Given the description of an element on the screen output the (x, y) to click on. 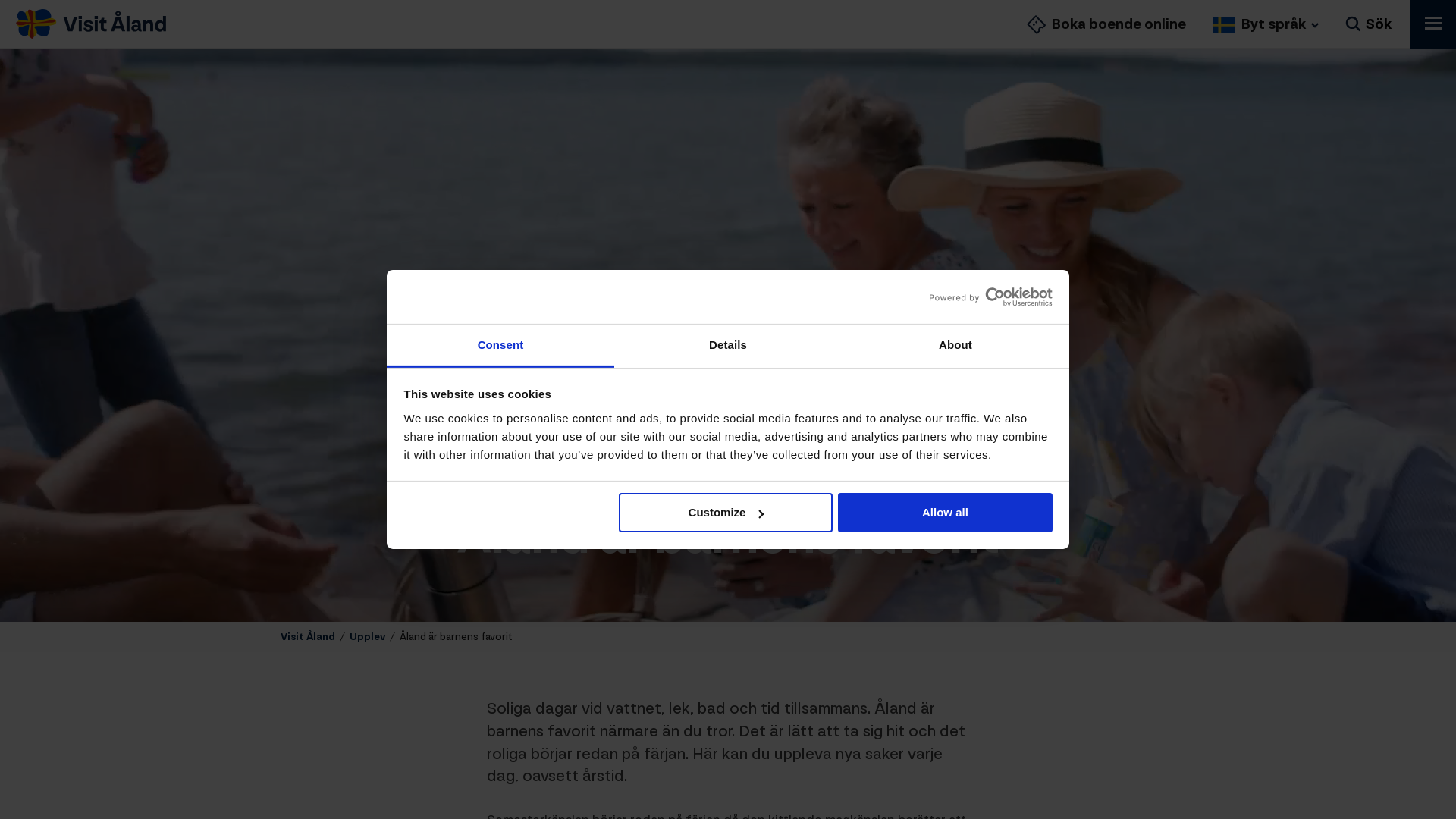
Customize Element type: text (725, 511)
About Element type: text (955, 345)
Details Element type: text (727, 345)
Upplev Element type: text (367, 636)
Allow all Element type: text (944, 511)
Boka boende online Element type: text (1106, 24)
Consent Element type: text (500, 345)
